Given the description of an element on the screen output the (x, y) to click on. 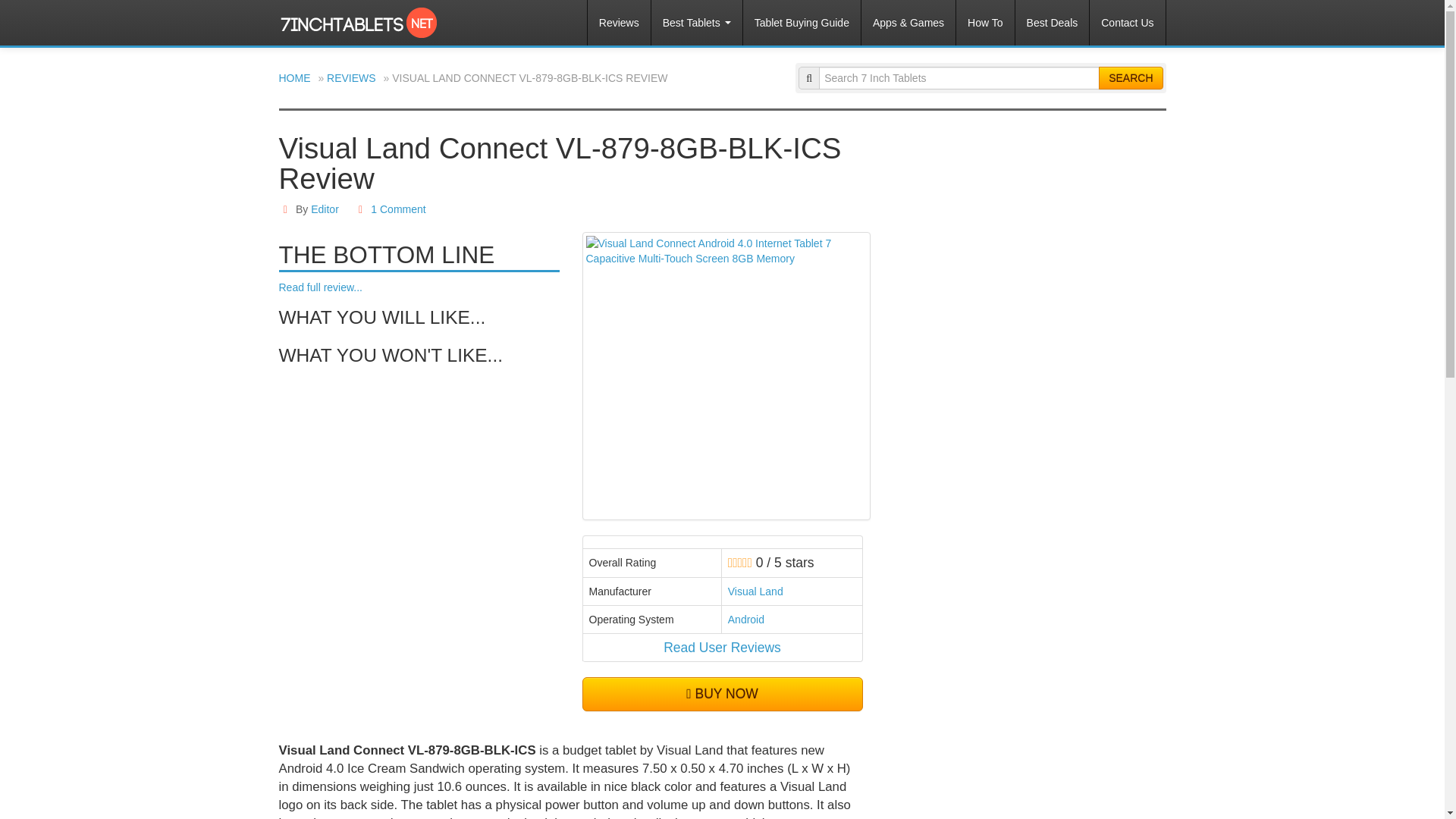
Read full review... (320, 287)
BUY NOW (722, 694)
Tablet Buying Guide (801, 22)
Read User Reviews (721, 647)
Best Tablets (696, 22)
Search (1130, 77)
Visual Land (755, 591)
Reviews (619, 22)
Android (746, 619)
How To (984, 22)
Best Deals (1051, 22)
Advertisement (1012, 246)
REVIEWS (350, 78)
7 Inch Tablets (362, 15)
7 Inch Tablets (362, 15)
